Given the description of an element on the screen output the (x, y) to click on. 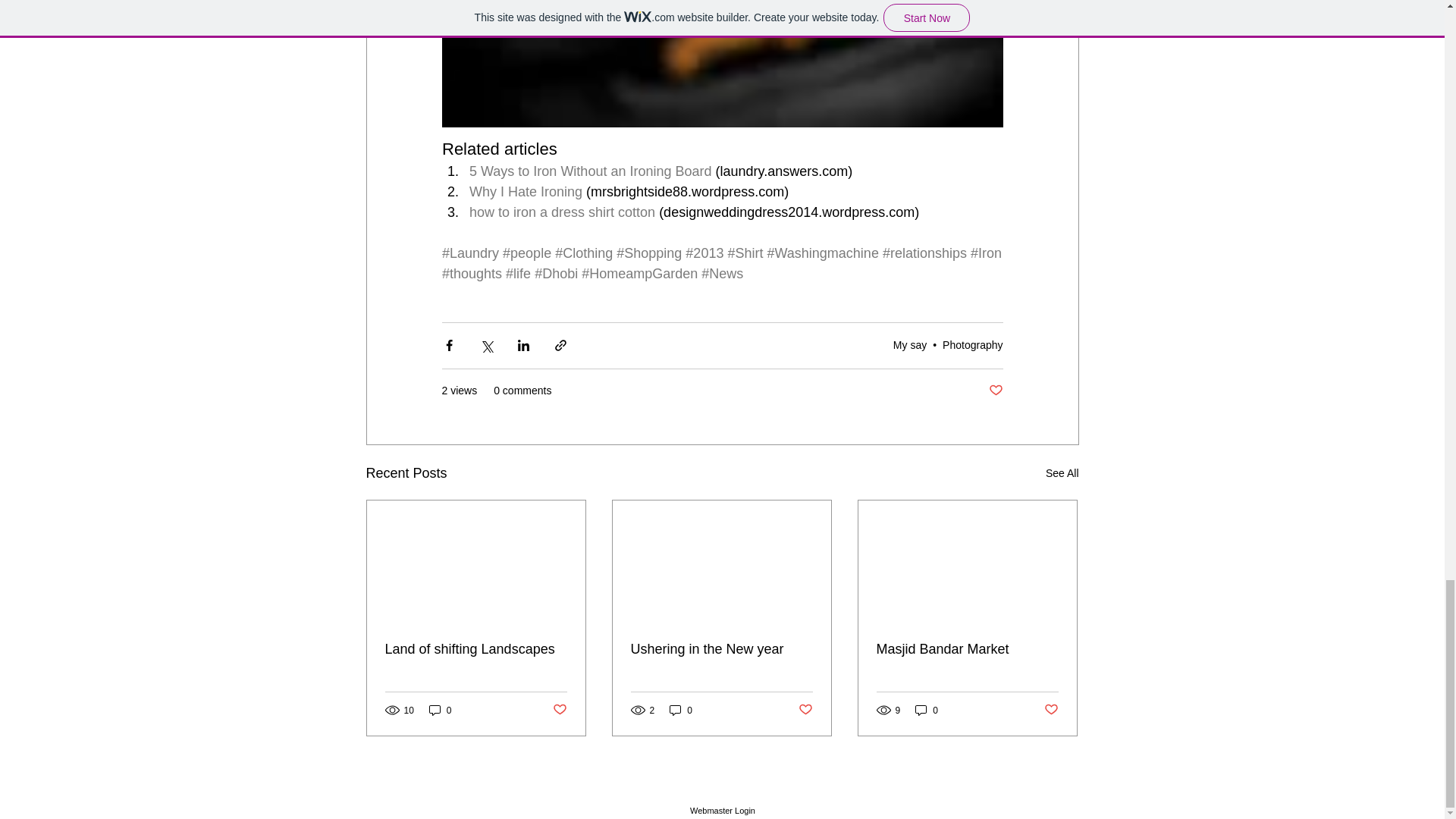
My say (909, 345)
how to iron a dress shirt cotton (560, 212)
5 Ways to Iron Without an Ironing Board (589, 171)
Why I Hate Ironing (524, 191)
